Given the description of an element on the screen output the (x, y) to click on. 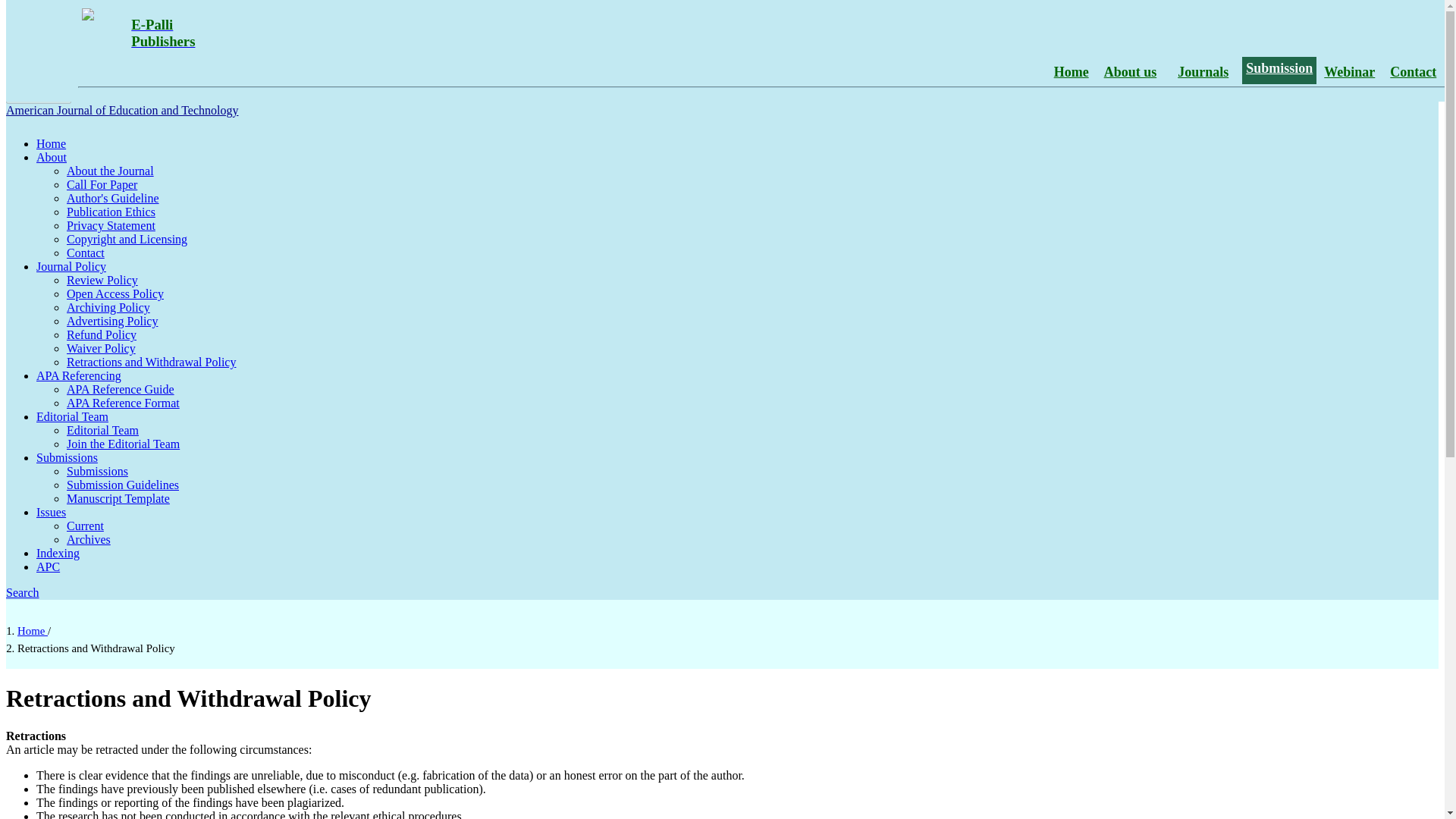
Skip to site footer (302, 11)
Retractions and Withdrawal Policy (138, 50)
Join the Editorial Team (150, 350)
Privacy Statement (122, 432)
About the Journal (110, 213)
APA Referencing (110, 159)
Open Access Policy (78, 364)
Open Menu (114, 282)
Editorial Team (38, 95)
Submissions (71, 405)
APA Reference Guide (97, 459)
Copyright and Licensing (120, 377)
Journal Policy (126, 227)
Indexing (71, 254)
